Given the description of an element on the screen output the (x, y) to click on. 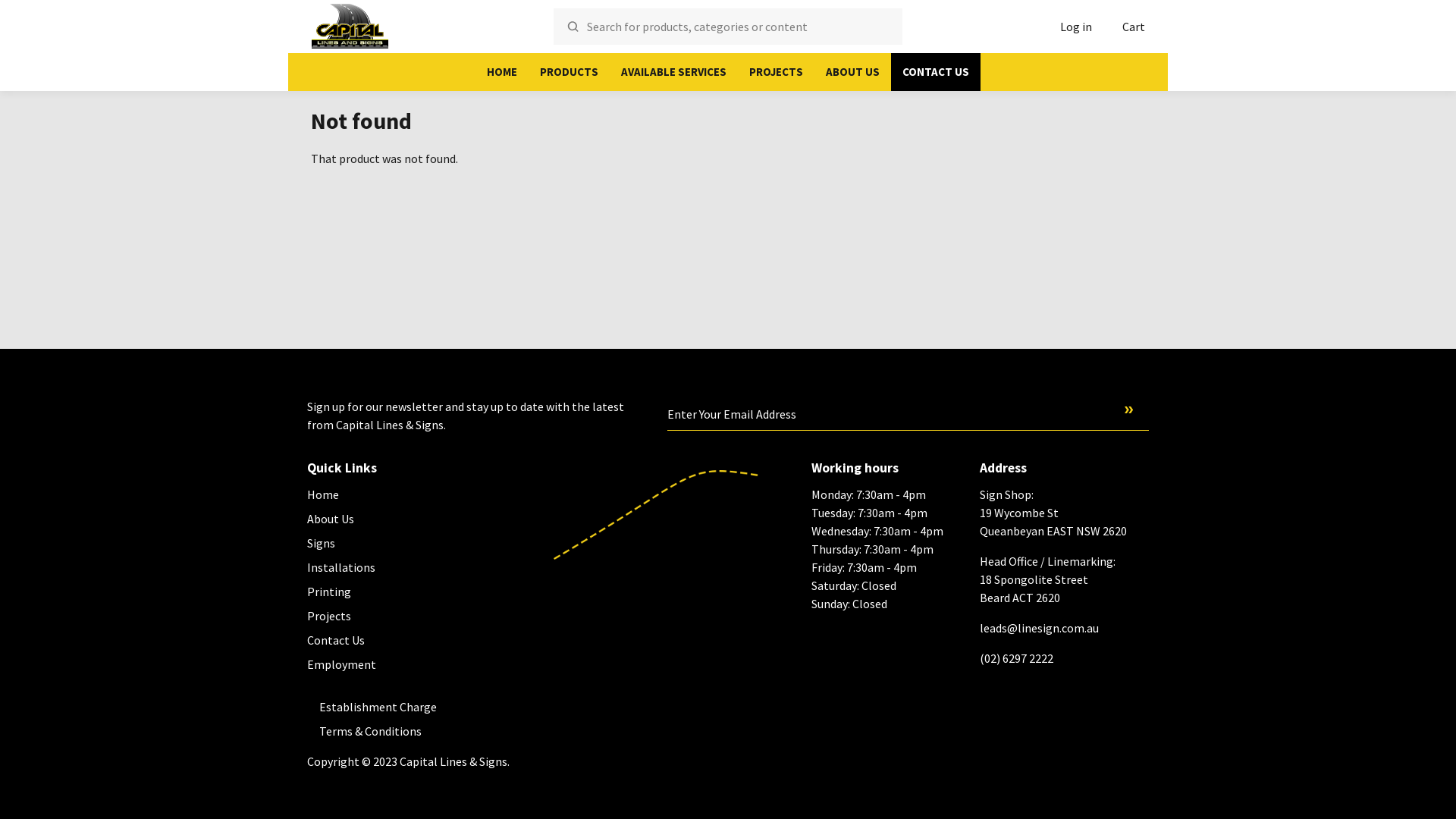
CONTACT US Element type: text (935, 72)
Projects Element type: text (329, 615)
ABOUT US Element type: text (852, 72)
Establishment Charge Element type: text (377, 706)
About Us Element type: text (330, 518)
Employment Element type: text (341, 663)
PRODUCTS Element type: text (568, 72)
Signs Element type: text (321, 542)
Cart Element type: text (1133, 26)
Terms & Conditions Element type: text (370, 730)
Home Element type: text (322, 494)
leads@linesign.com.au Element type: text (1038, 627)
PROJECTS Element type: text (775, 72)
AVAILABLE SERVICES Element type: text (673, 72)
Submit Element type: text (1136, 409)
(02) 6297 2222 Element type: text (1016, 657)
Log in Element type: text (1076, 26)
Contact Us Element type: text (335, 639)
19 Wycombe St
Queanbeyan EAST NSW 2620 Element type: text (1052, 521)
Installations Element type: text (341, 566)
HOME Element type: text (501, 72)
Printing Element type: text (329, 591)
18 Spongolite Street
Beard ACT 2620 Element type: text (1033, 588)
